Given the description of an element on the screen output the (x, y) to click on. 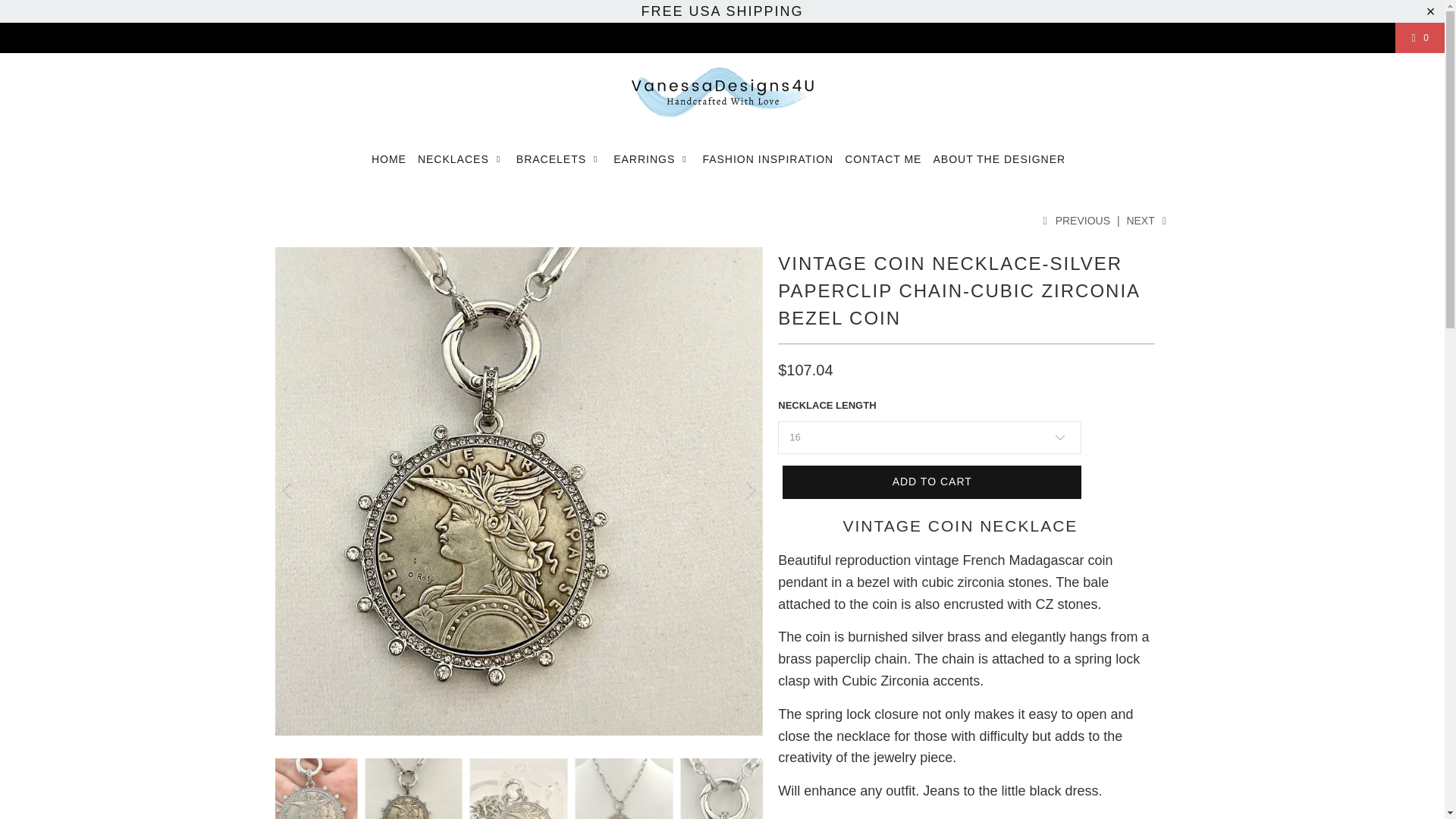
ABOUT THE DESIGNER (999, 159)
Previous (1073, 220)
NECKLACES (461, 159)
BRACELETS (559, 159)
FASHION INSPIRATION (766, 159)
EARRINGS (651, 159)
Next (1147, 220)
CONTACT ME (882, 159)
